Given the description of an element on the screen output the (x, y) to click on. 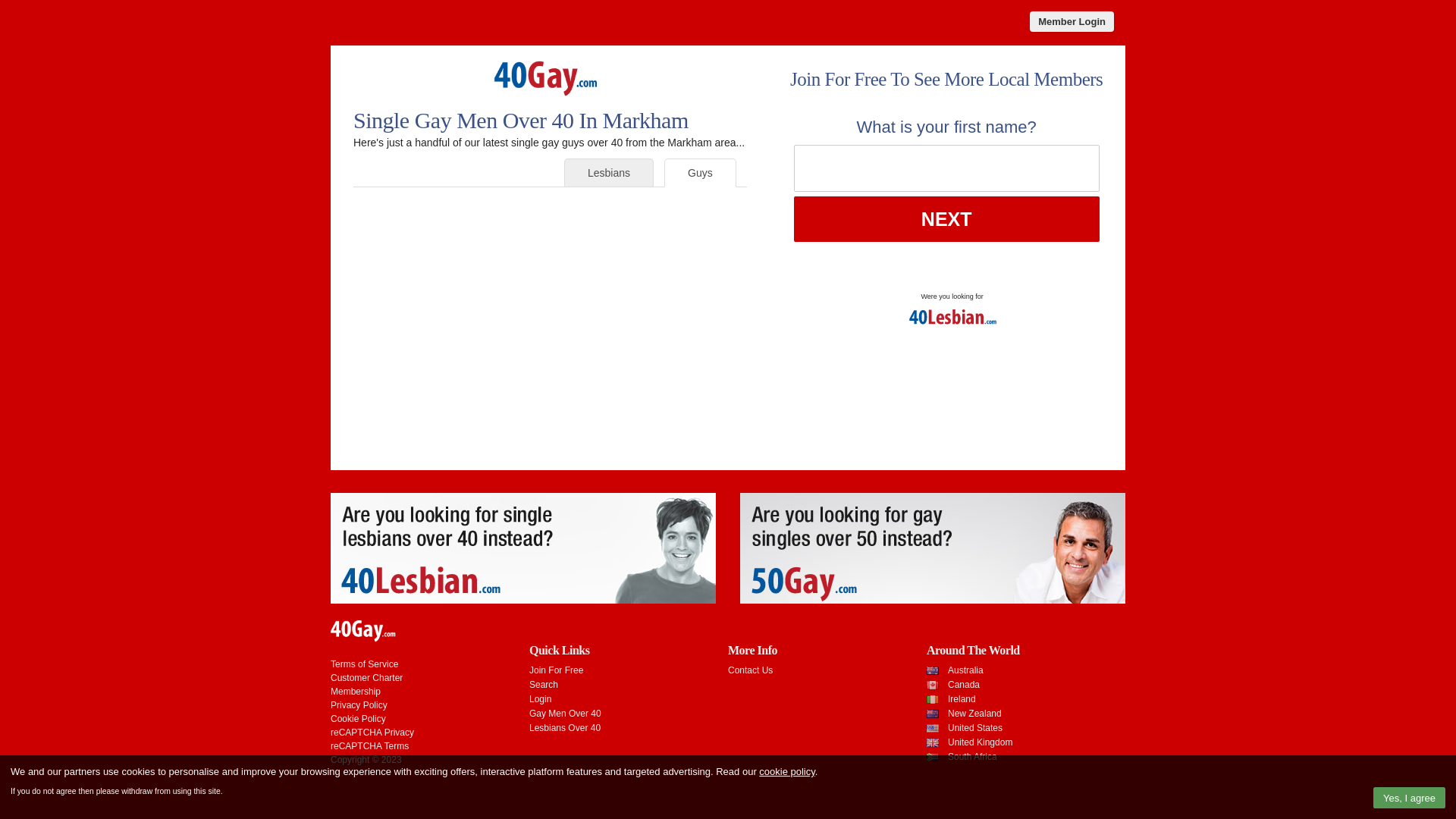
Australia Element type: text (965, 670)
Gay Men Over 40 Element type: text (565, 713)
South Africa Element type: text (972, 756)
Join For Free Element type: text (556, 670)
Login Element type: text (540, 698)
Member Login Element type: text (1071, 21)
Yes, I agree Element type: text (1409, 797)
Cookie Policy Element type: text (357, 718)
cookie policy Element type: text (786, 771)
Terms of Service Element type: text (364, 663)
United States Element type: text (974, 727)
Customer Charter Element type: text (366, 677)
Guys Element type: text (700, 172)
Membership Element type: text (355, 691)
New Zealand Element type: text (974, 713)
United Kingdom Element type: text (979, 742)
Lesbians Element type: text (608, 172)
NEXT Element type: text (946, 218)
reCAPTCHA Terms Element type: text (369, 745)
Search Element type: text (543, 684)
Lesbians Over 40 Element type: text (564, 727)
Ireland Element type: text (961, 698)
Canada Element type: text (963, 684)
Contact Us Element type: text (750, 670)
Privacy Policy Element type: text (358, 704)
reCAPTCHA Privacy Element type: text (372, 732)
